Given the description of an element on the screen output the (x, y) to click on. 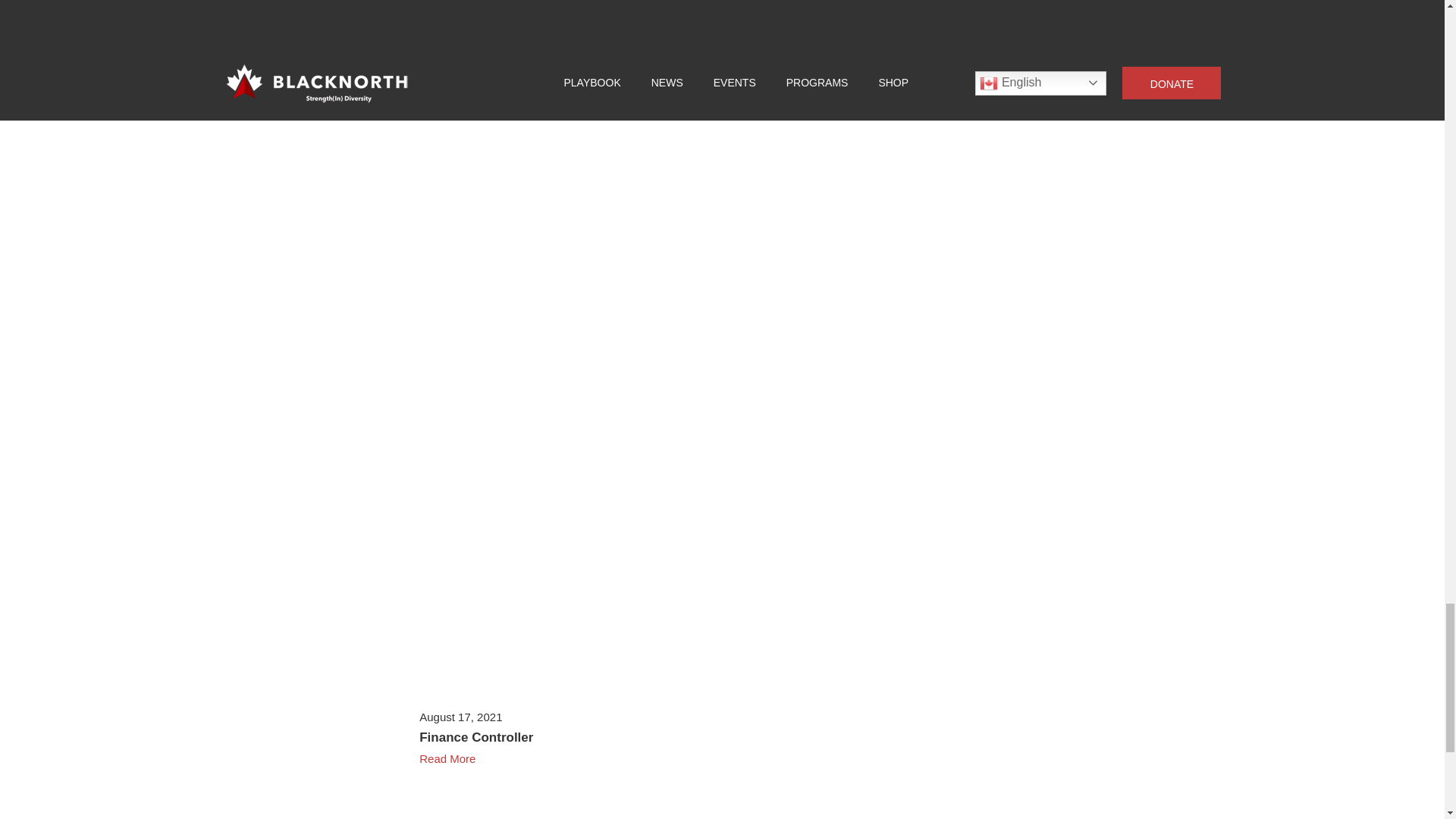
Read More (722, 757)
BlackNorth Voice (472, 26)
Read More (722, 46)
Finance Controller (475, 737)
